Given the description of an element on the screen output the (x, y) to click on. 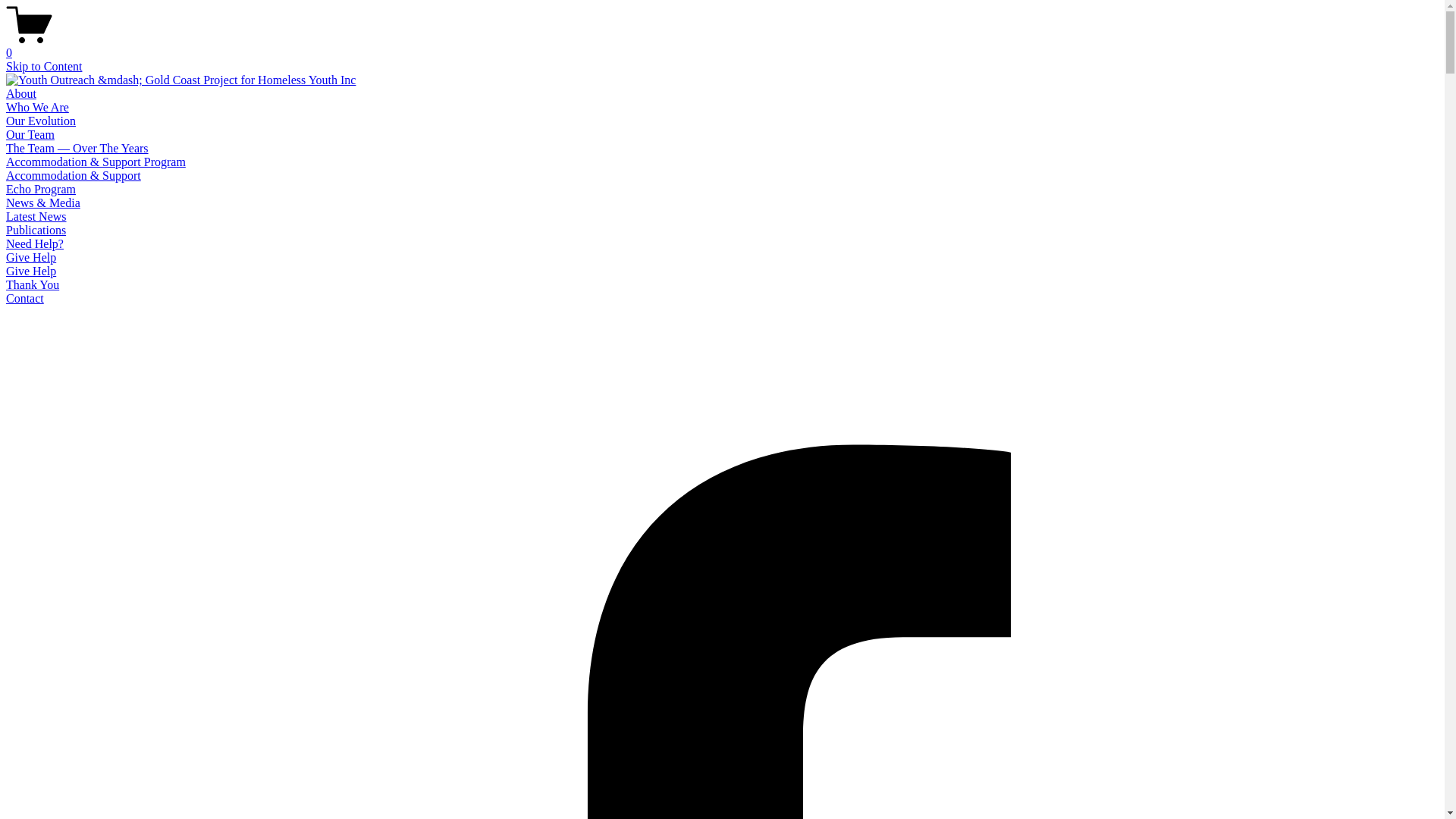
Publications Element type: text (35, 229)
0 Element type: text (722, 45)
Give Help Element type: text (31, 257)
Thank You Element type: text (32, 284)
Our Evolution Element type: text (40, 120)
About Element type: text (21, 93)
Accommodation & Support Element type: text (73, 175)
News & Media Element type: text (43, 202)
Skip to Content Element type: text (43, 65)
Give Help Element type: text (31, 270)
Our Team Element type: text (30, 134)
Need Help? Element type: text (34, 243)
Accommodation & Support Program Element type: text (95, 161)
Contact Element type: text (24, 297)
Echo Program Element type: text (40, 188)
Latest News Element type: text (36, 216)
Who We Are Element type: text (37, 106)
